Given the description of an element on the screen output the (x, y) to click on. 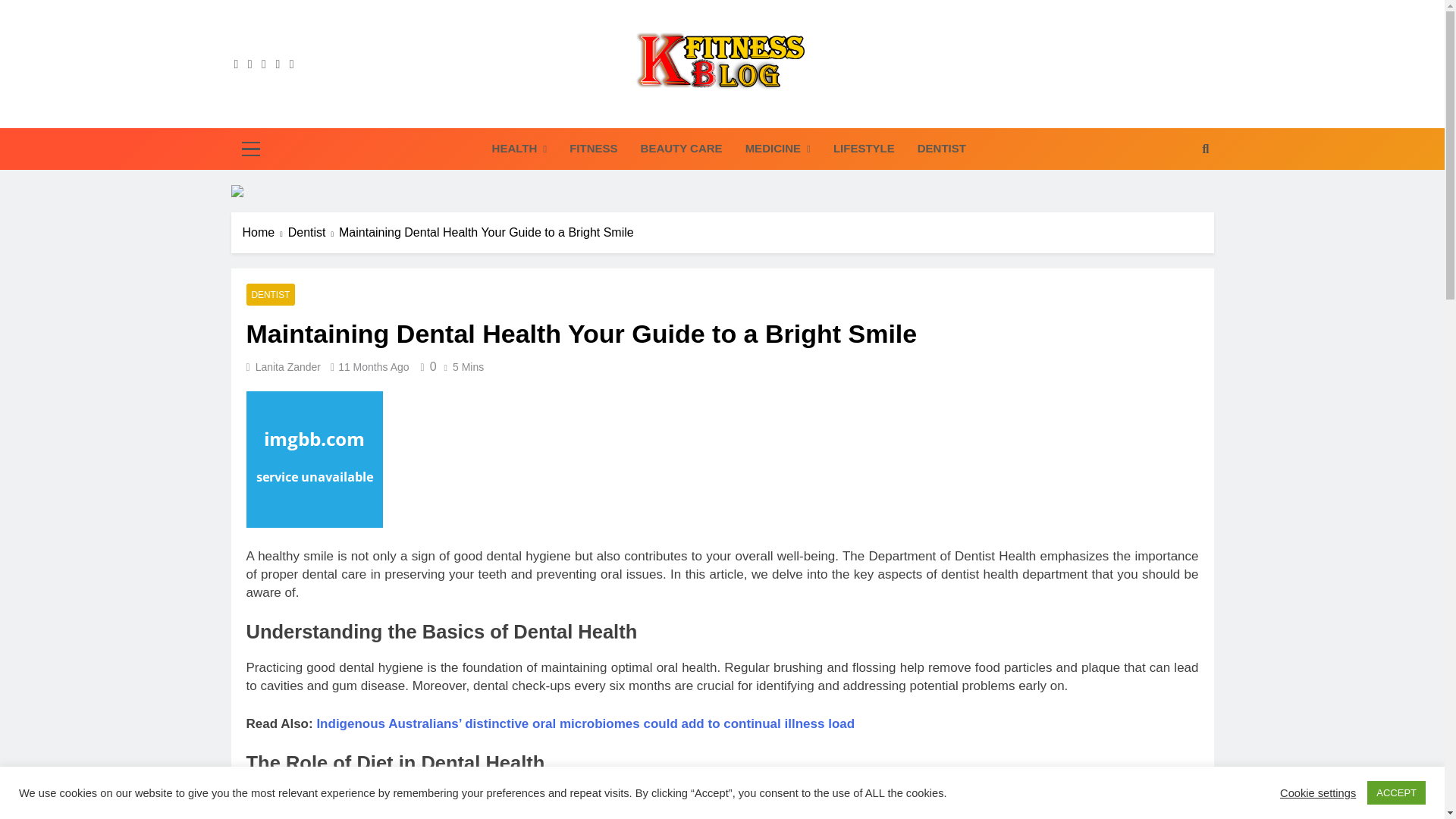
FITNESS (592, 147)
Home (265, 232)
DENTIST (940, 147)
Kbfitness Blog (587, 114)
Maintaining Dental Health Your Guide to a Bright Smile (313, 459)
MEDICINE (777, 148)
HEALTH (519, 148)
BEAUTY CARE (680, 147)
LIFESTYLE (863, 147)
